Given the description of an element on the screen output the (x, y) to click on. 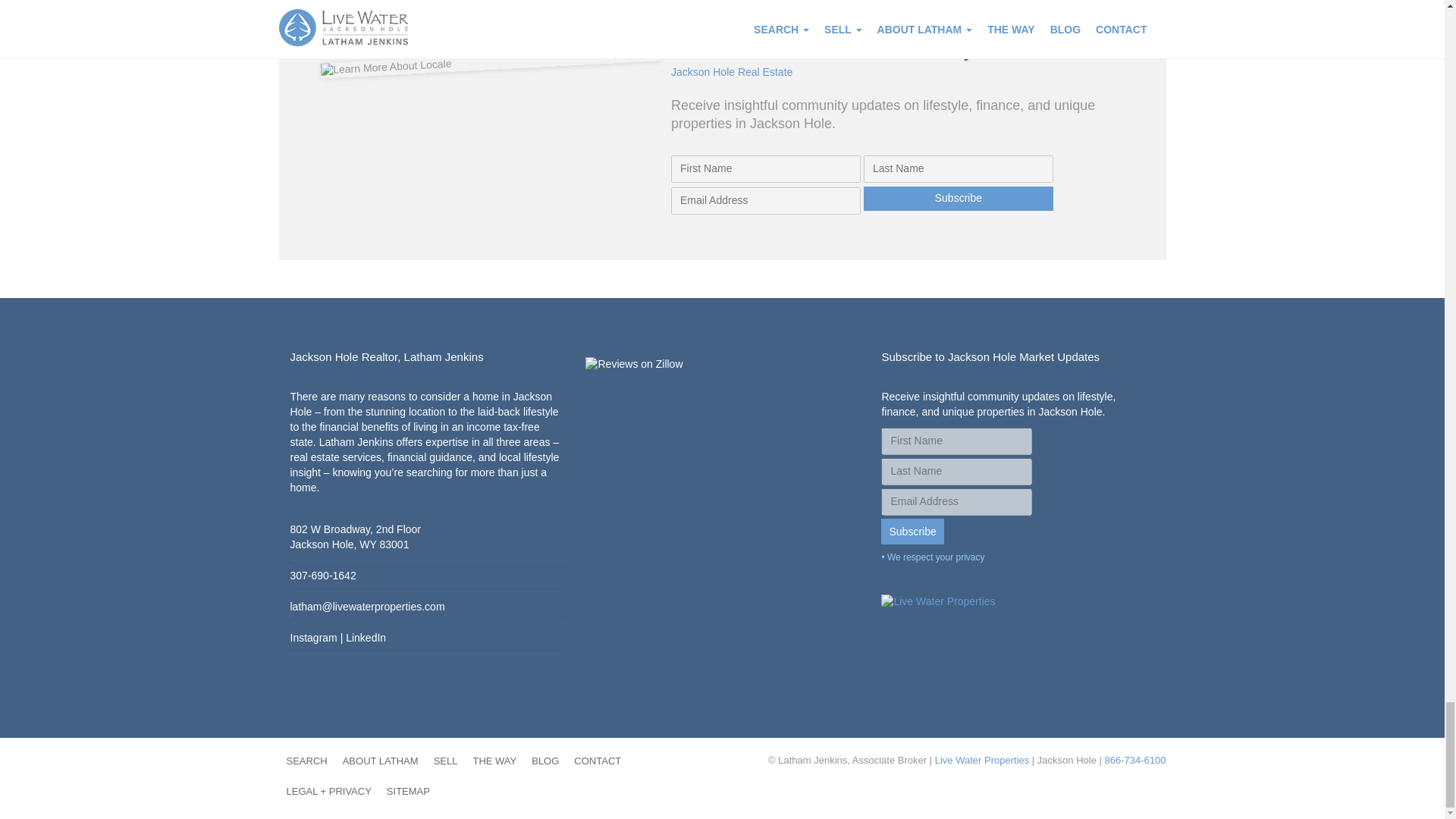
Subscribe (957, 198)
Subscribe (911, 531)
